Given the description of an element on the screen output the (x, y) to click on. 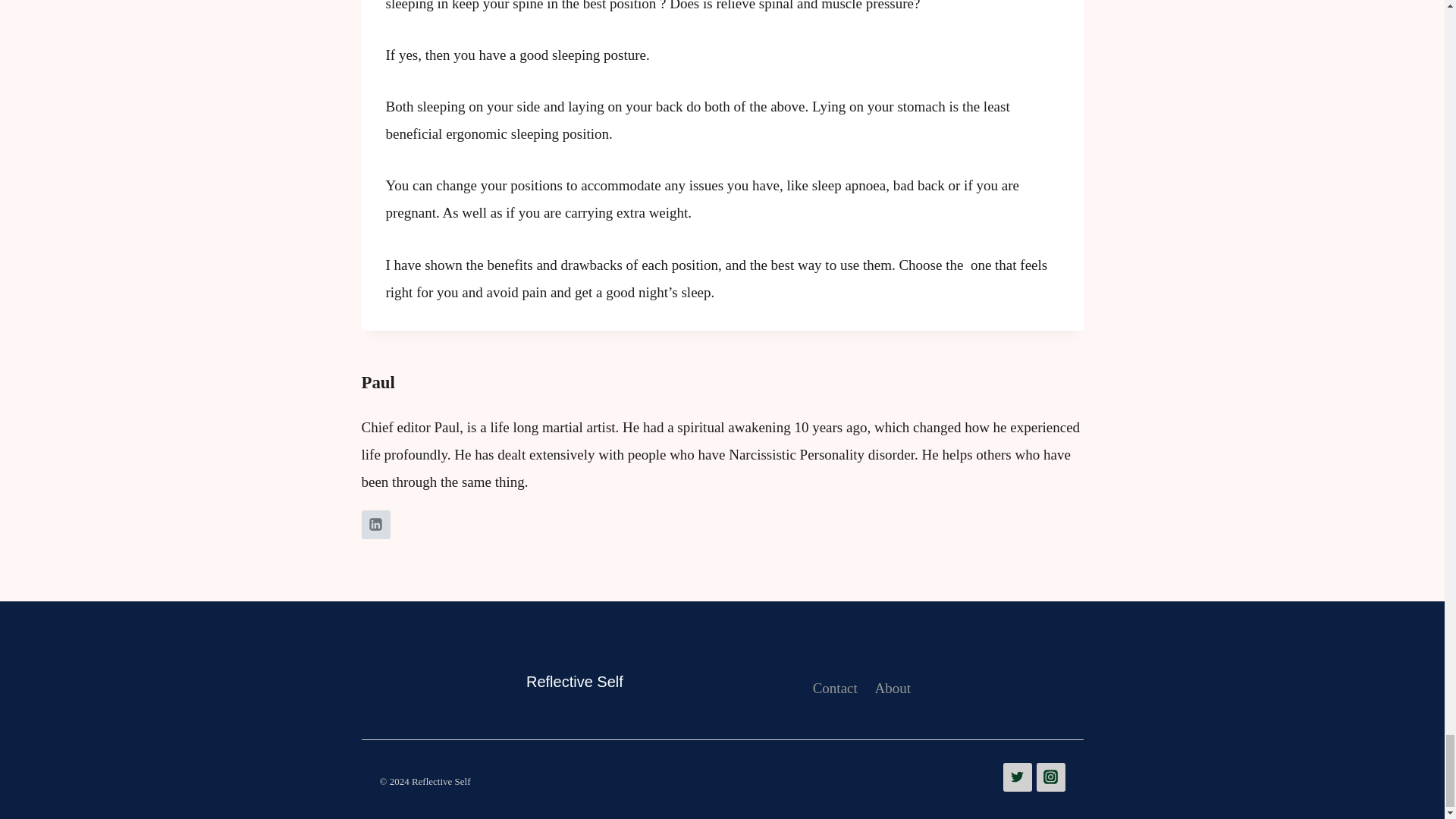
Paul (377, 382)
Posts by Paul (377, 382)
About (892, 687)
Contact (834, 687)
Follow Paul on Linkedin (375, 524)
